Given the description of an element on the screen output the (x, y) to click on. 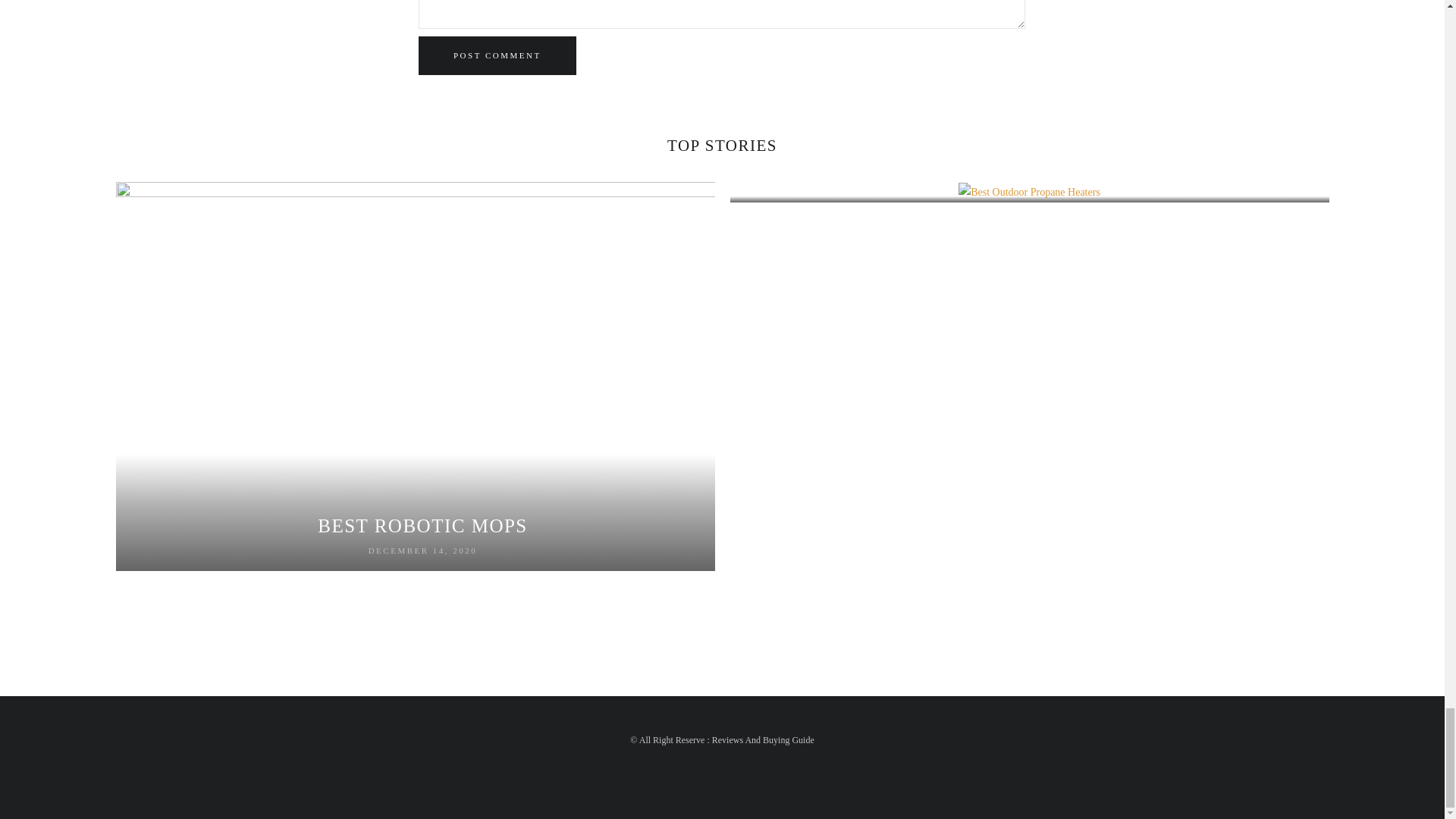
Post comment (497, 55)
BEST ROBOTIC MOPS (422, 525)
Post comment (497, 55)
Best Robotic Mops (422, 525)
